Given the description of an element on the screen output the (x, y) to click on. 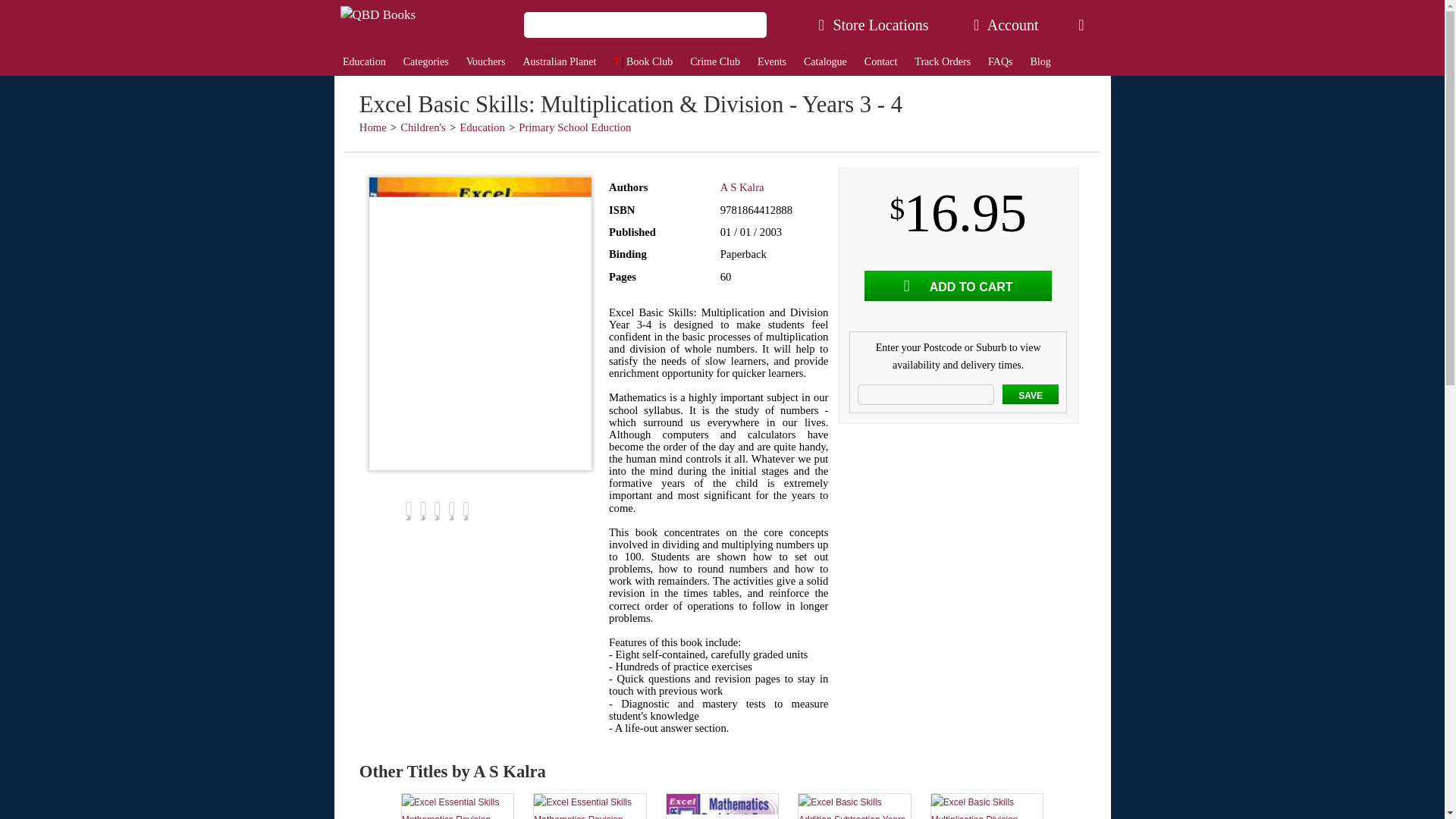
Account (1006, 24)
Education (363, 62)
Categories (425, 62)
QBD Books (376, 14)
Store Locations (873, 24)
